Given the description of an element on the screen output the (x, y) to click on. 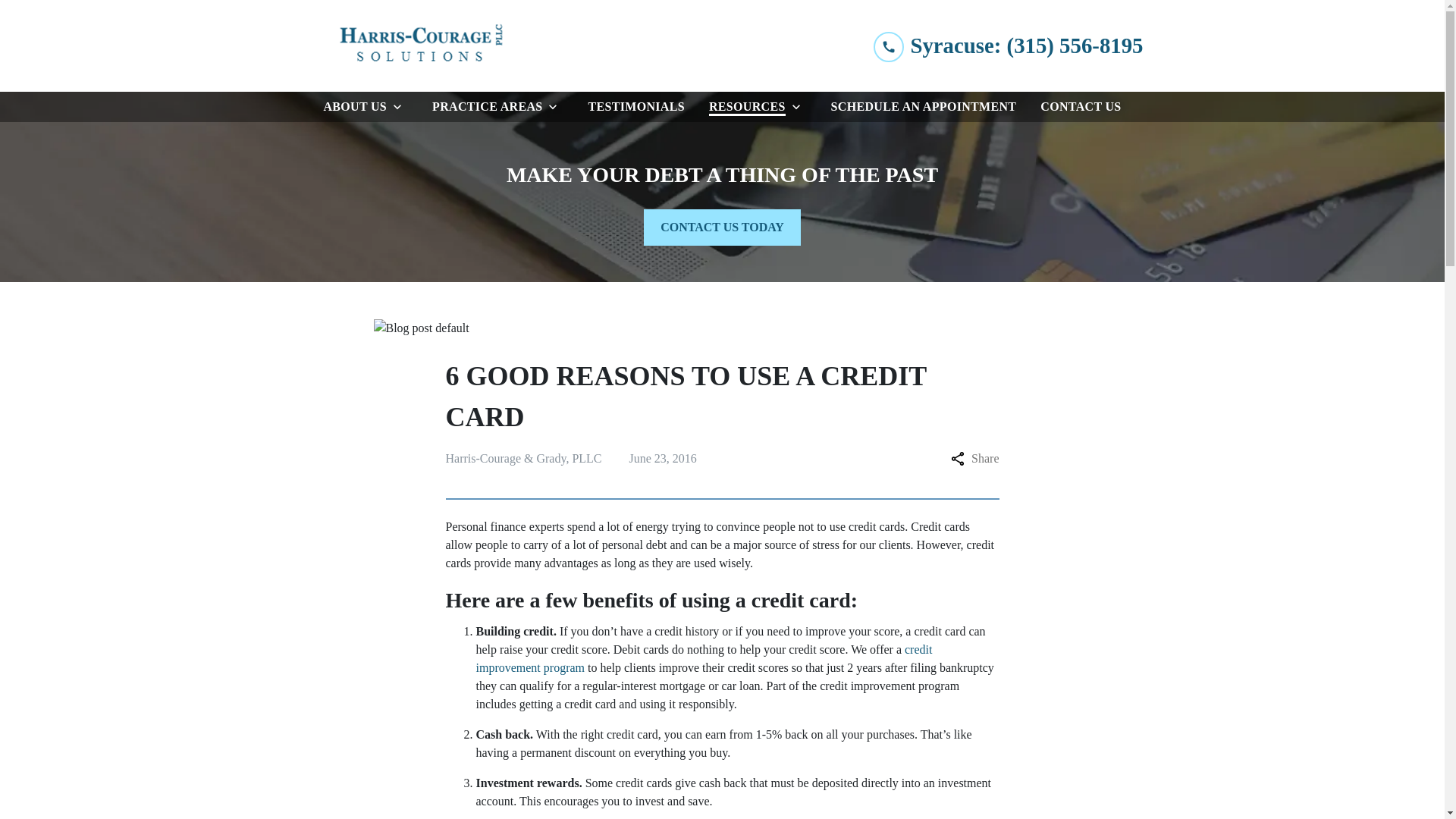
ABOUT US (352, 106)
TESTIMONIALS (635, 106)
SCHEDULE AN APPOINTMENT (924, 106)
CONTACT US (1079, 106)
Share (974, 458)
CONTACT US TODAY (721, 227)
PRACTICE AREAS (483, 106)
credit improvement program (704, 658)
RESOURCES (744, 106)
